Given the description of an element on the screen output the (x, y) to click on. 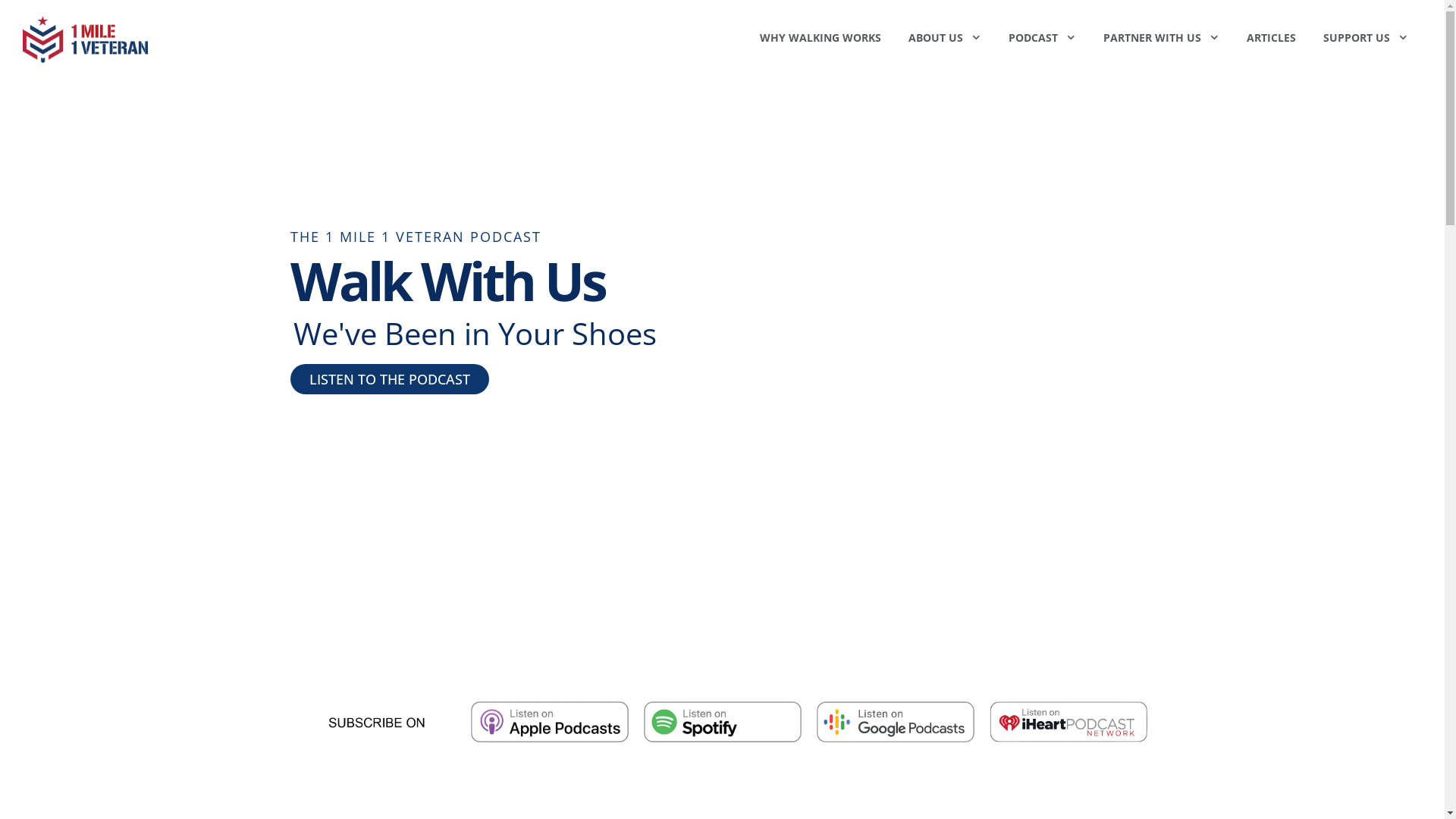
ABOUT US Element type: text (944, 37)
SUPPORT US Element type: text (1365, 37)
WHY WALKING WORKS Element type: text (820, 37)
PODCAST Element type: text (1041, 37)
ARTICLES Element type: text (1271, 37)
PARTNER WITH US Element type: text (1161, 37)
